Given the description of an element on the screen output the (x, y) to click on. 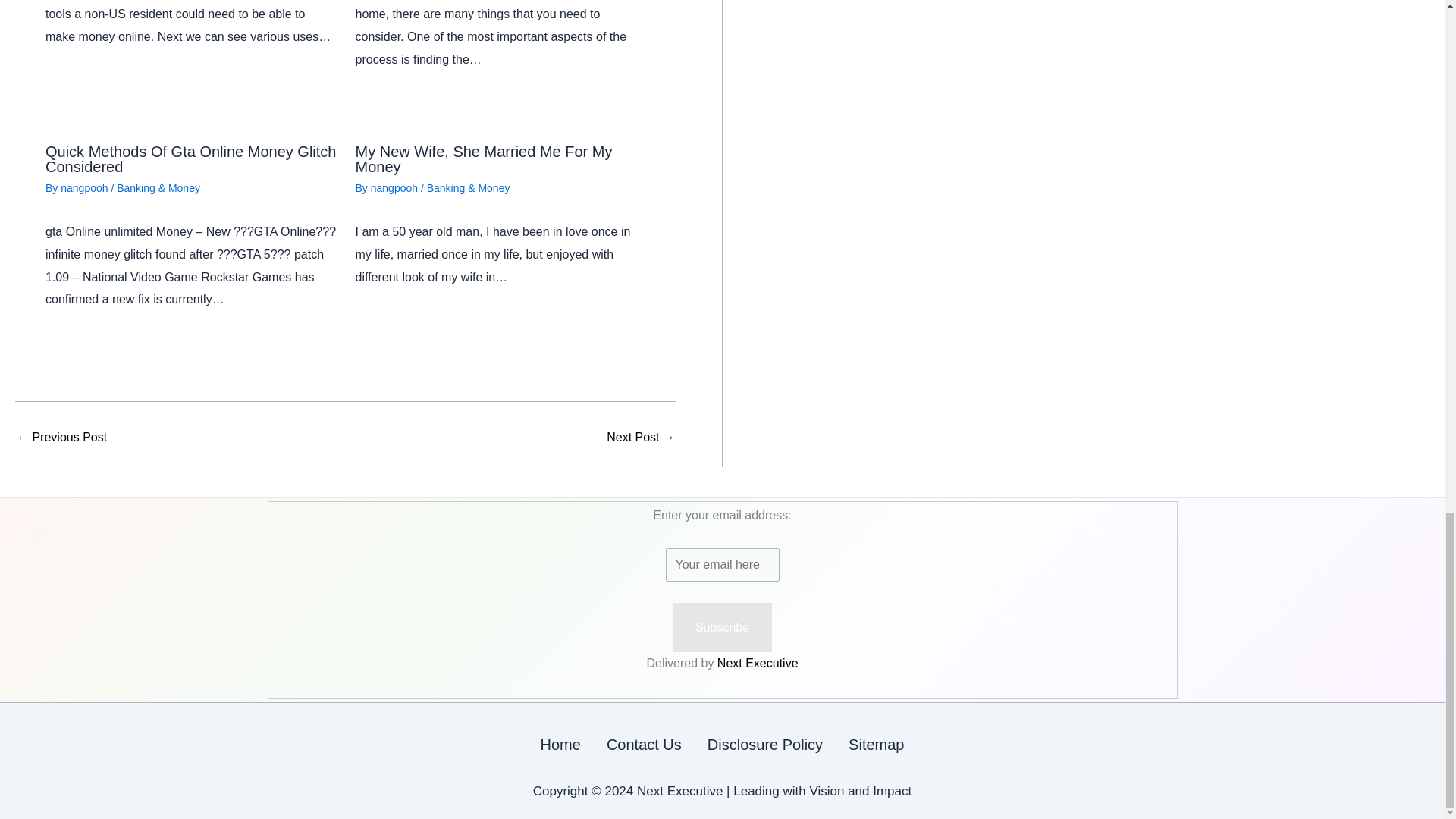
View all posts by nangpooh (85, 187)
View all posts by nangpooh (395, 187)
The Importance Of Role Models For Entrepreneurs (641, 437)
Subscribe (721, 627)
